Given the description of an element on the screen output the (x, y) to click on. 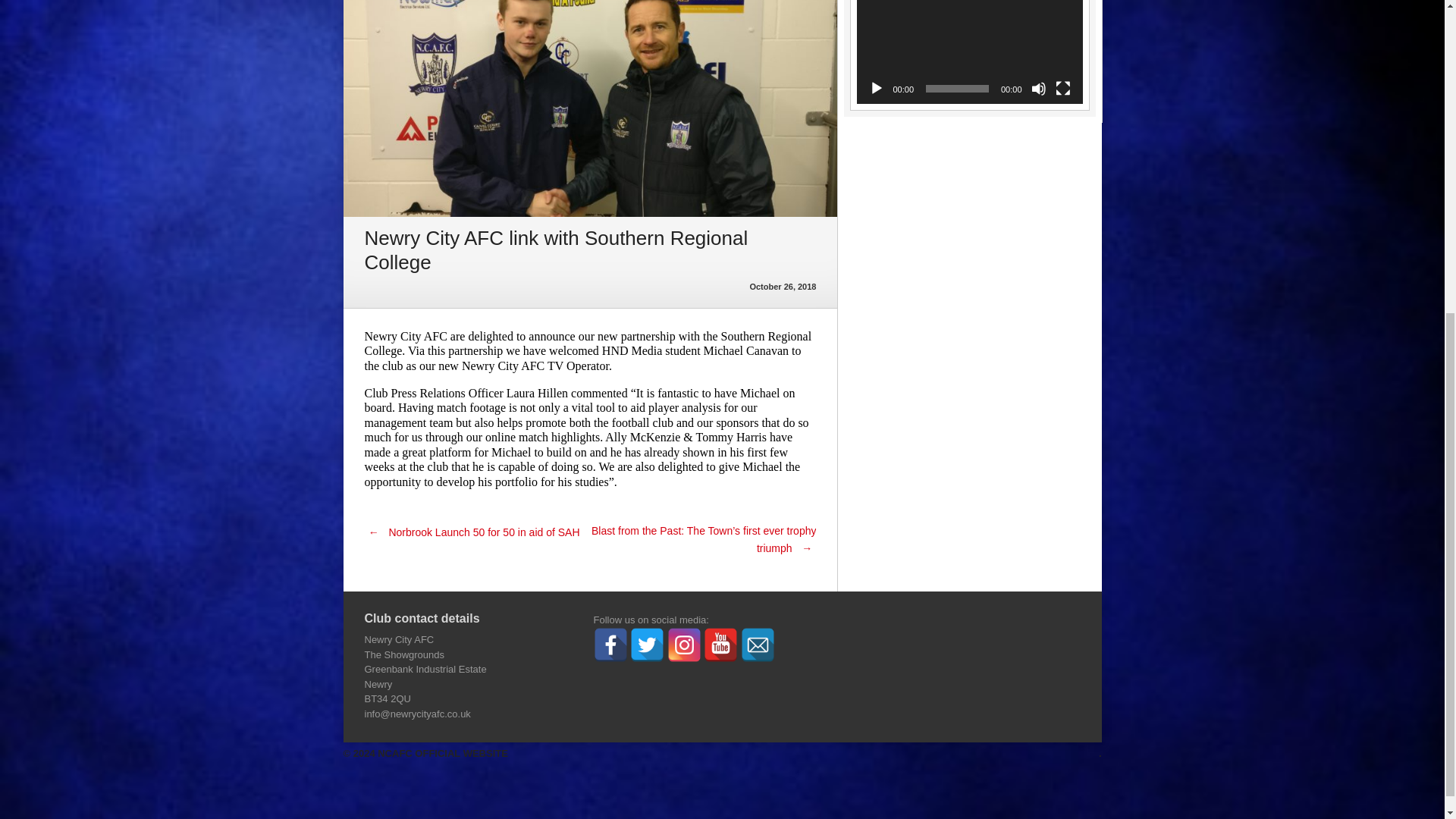
Twitter (646, 644)
YouTube (720, 644)
Play (876, 88)
Fullscreen (1062, 88)
Instagram (683, 644)
Email (757, 644)
Mute (1038, 88)
October 26, 2018 (782, 286)
Facebook (609, 644)
